Given the description of an element on the screen output the (x, y) to click on. 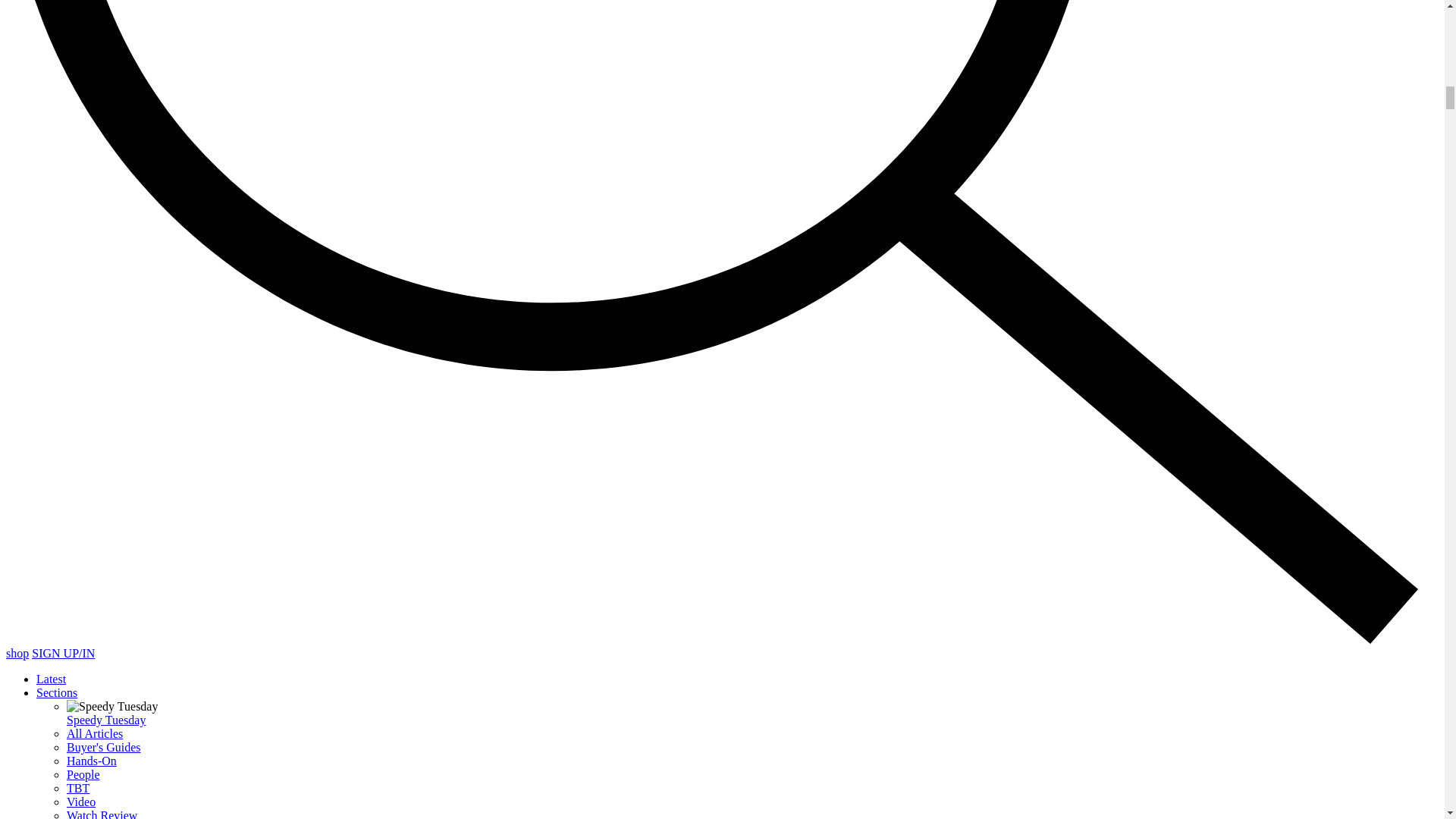
Speedy Tuesday (105, 719)
Sections (56, 692)
Buyer's Guides (103, 747)
Watch Review (101, 814)
shop (17, 653)
TBT (77, 788)
People (83, 774)
All Articles (94, 733)
Video (81, 801)
Latest (50, 678)
